Given the description of an element on the screen output the (x, y) to click on. 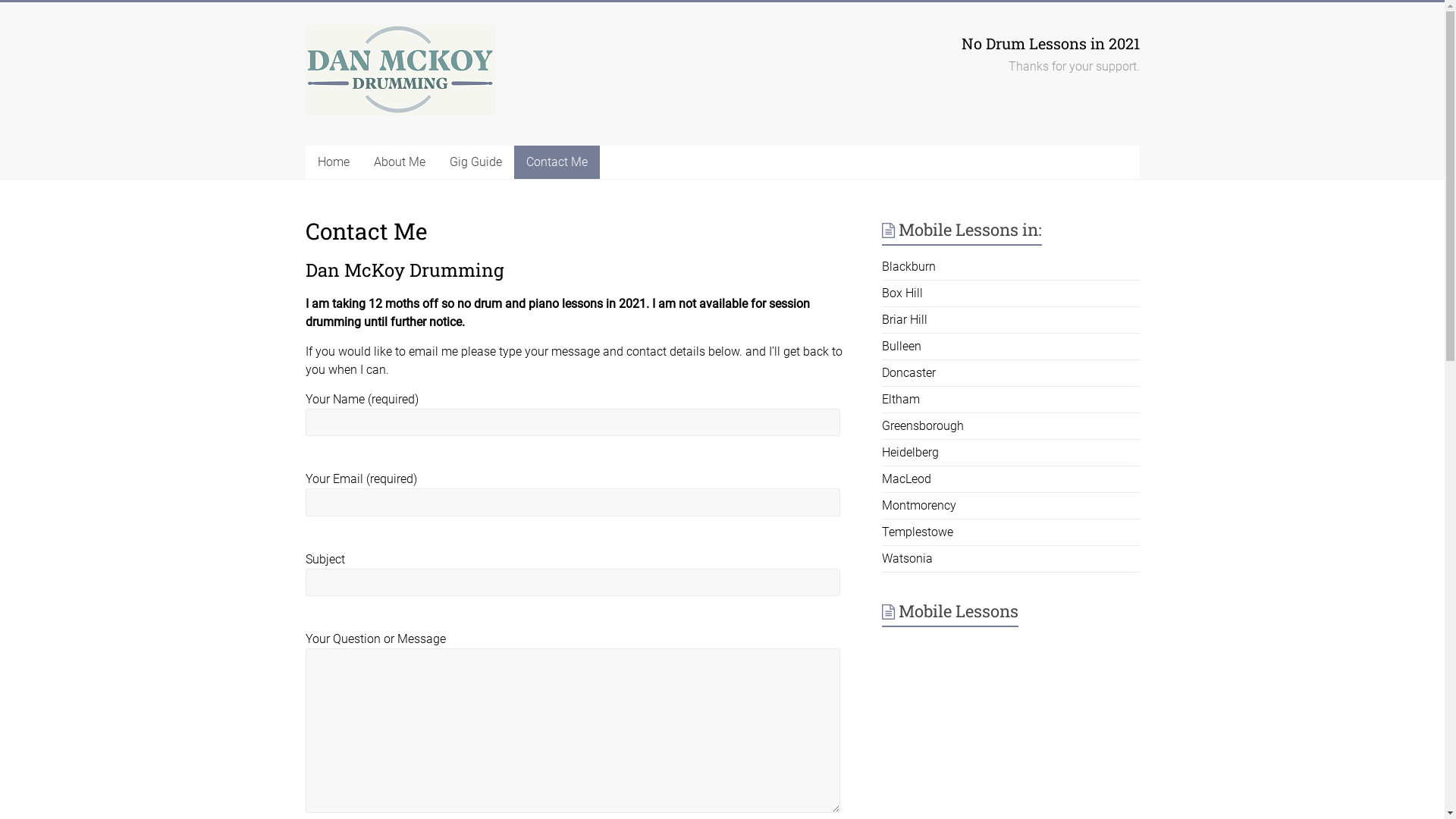
Contact Me Element type: text (556, 161)
Gig Guide Element type: text (474, 161)
Home Element type: text (332, 161)
About Me Element type: text (398, 161)
Dan McKoy Drumming Element type: text (374, 74)
